Given the description of an element on the screen output the (x, y) to click on. 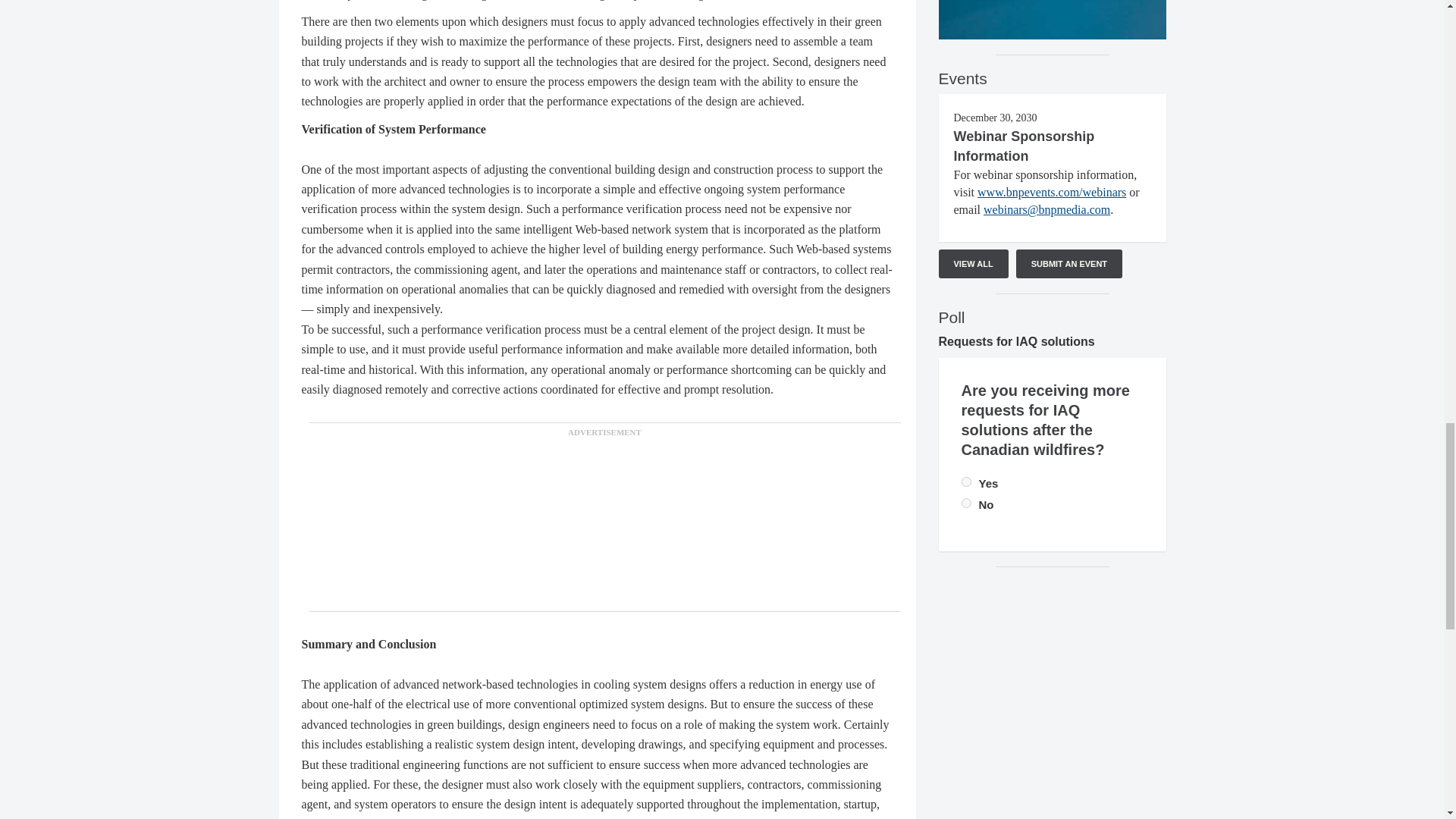
Webinar Sponsorship Information (1023, 145)
195 (965, 502)
196 (965, 481)
